Given the description of an element on the screen output the (x, y) to click on. 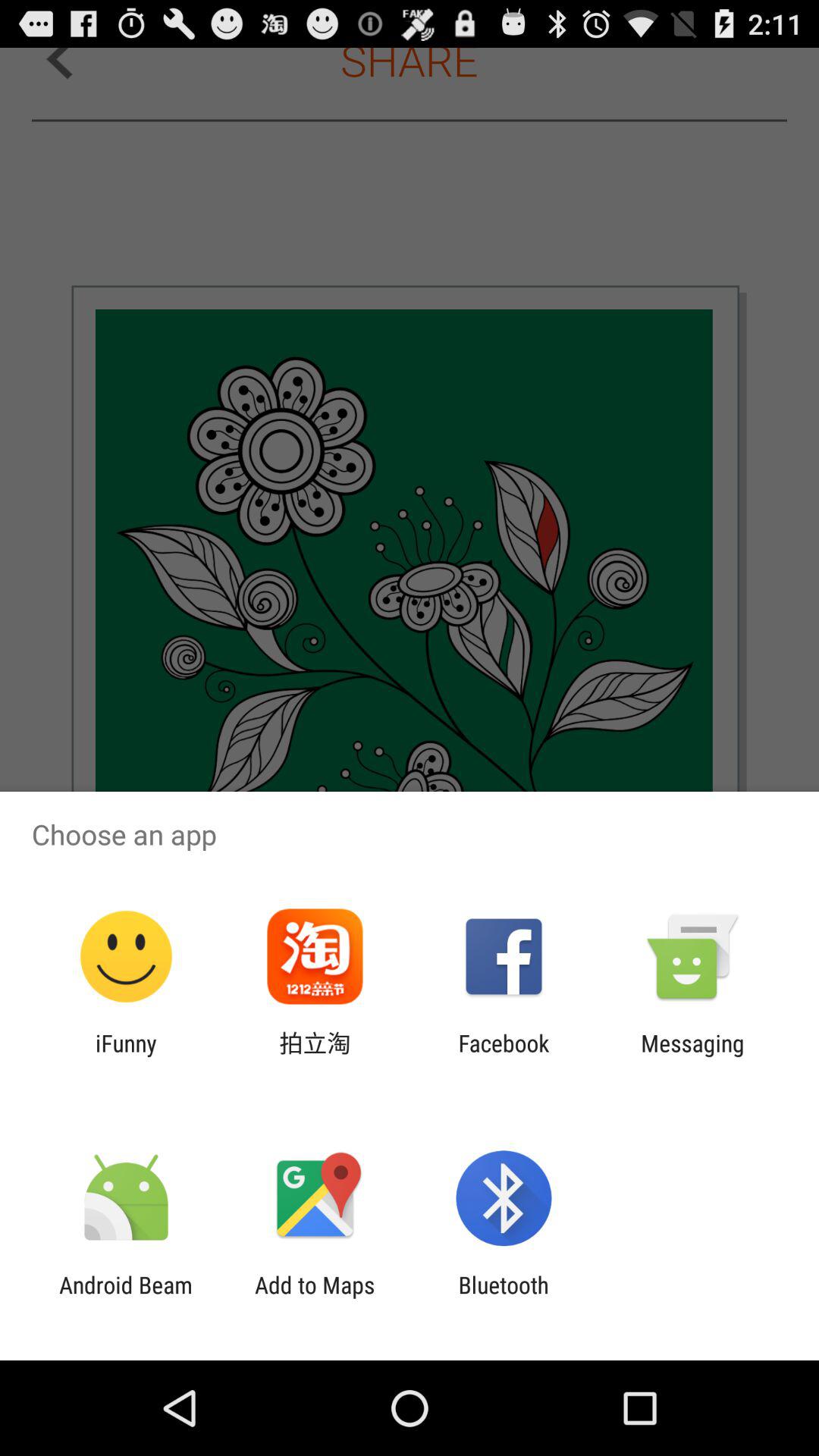
turn on the messaging app (692, 1056)
